Given the description of an element on the screen output the (x, y) to click on. 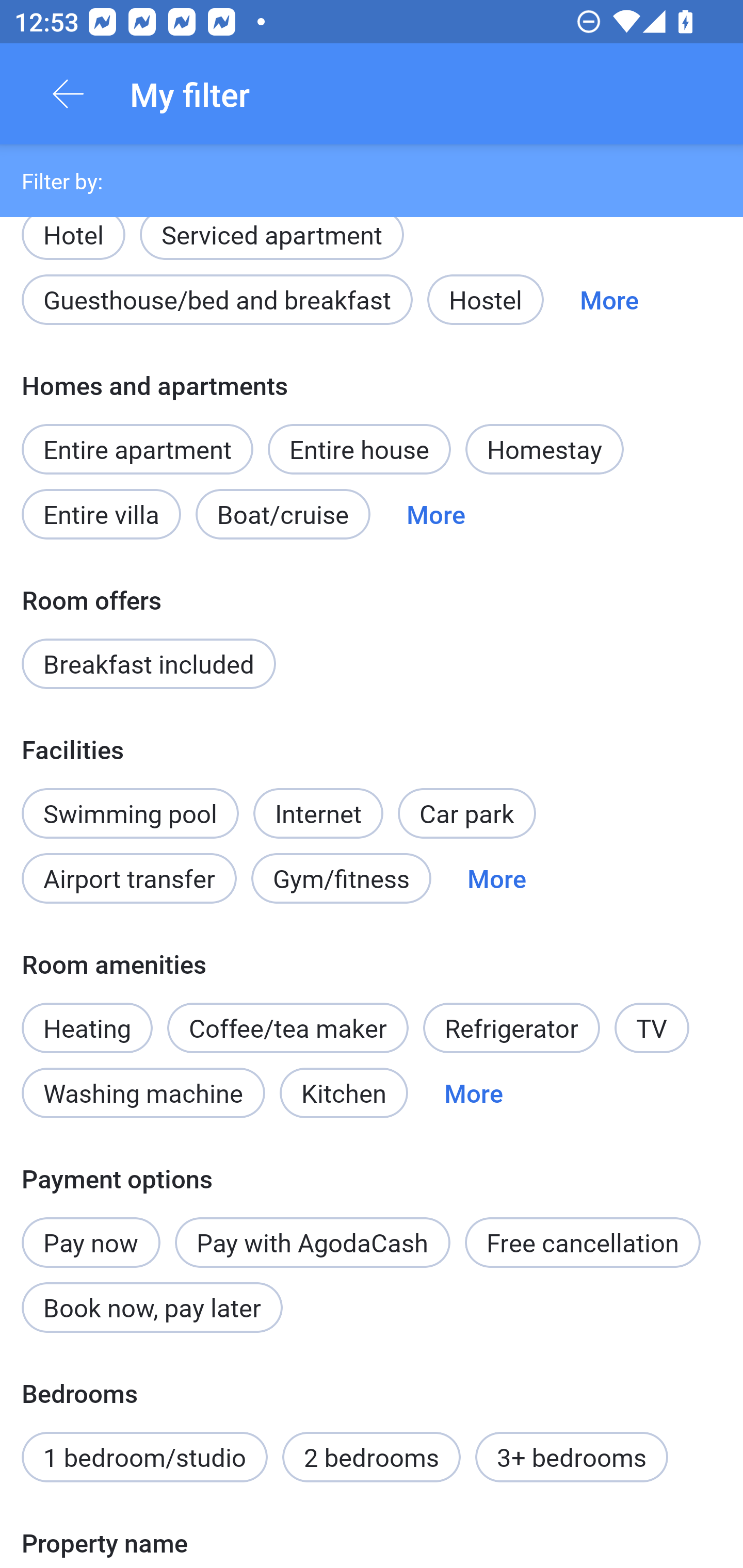
Hotel (73, 235)
Serviced apartment (271, 235)
Guesthouse/bed and breakfast (217, 299)
Hostel (485, 299)
More (608, 299)
Entire apartment (137, 449)
Entire house (359, 449)
Homestay (544, 449)
Entire villa (101, 514)
Boat/cruise (282, 514)
More (435, 514)
Breakfast included (148, 663)
Swimming pool (130, 812)
Internet (318, 802)
Car park (466, 812)
Airport transfer (129, 878)
Gym/fitness (341, 878)
More (496, 878)
Heating (87, 1016)
Coffee/tea maker (287, 1027)
Refrigerator (511, 1027)
TV (651, 1027)
Washing machine (143, 1092)
Kitchen (343, 1092)
More (473, 1092)
Pay now (90, 1231)
Pay with AgodaCash (312, 1242)
Free cancellation (582, 1242)
Book now, pay later (152, 1307)
1 bedroom/studio (144, 1457)
2 bedrooms (371, 1457)
3+ bedrooms (571, 1457)
